Given the description of an element on the screen output the (x, y) to click on. 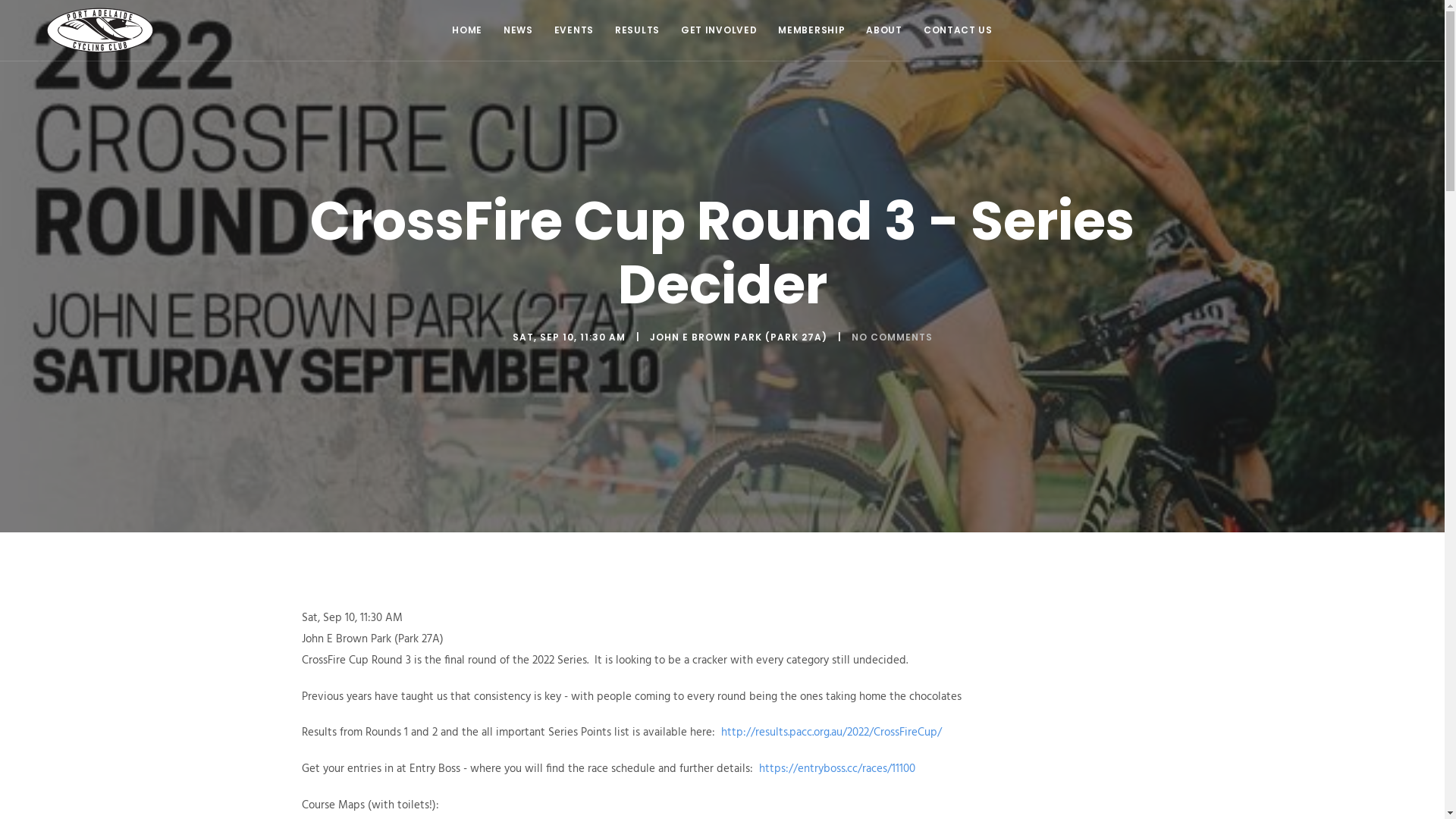
CONTACT US Element type: text (957, 30)
http://results.pacc.org.au/2022/CrossFireCup/ Element type: text (830, 732)
RESULTS Element type: text (637, 30)
NO COMMENTS Element type: text (890, 336)
https://entryboss.cc/races/11100 Element type: text (836, 768)
ABOUT Element type: text (884, 30)
HOME Element type: text (466, 30)
MEMBERSHIP Element type: text (811, 30)
EVENTS Element type: text (573, 30)
NEWS Element type: text (518, 30)
GET INVOLVED Element type: text (718, 30)
